Given the description of an element on the screen output the (x, y) to click on. 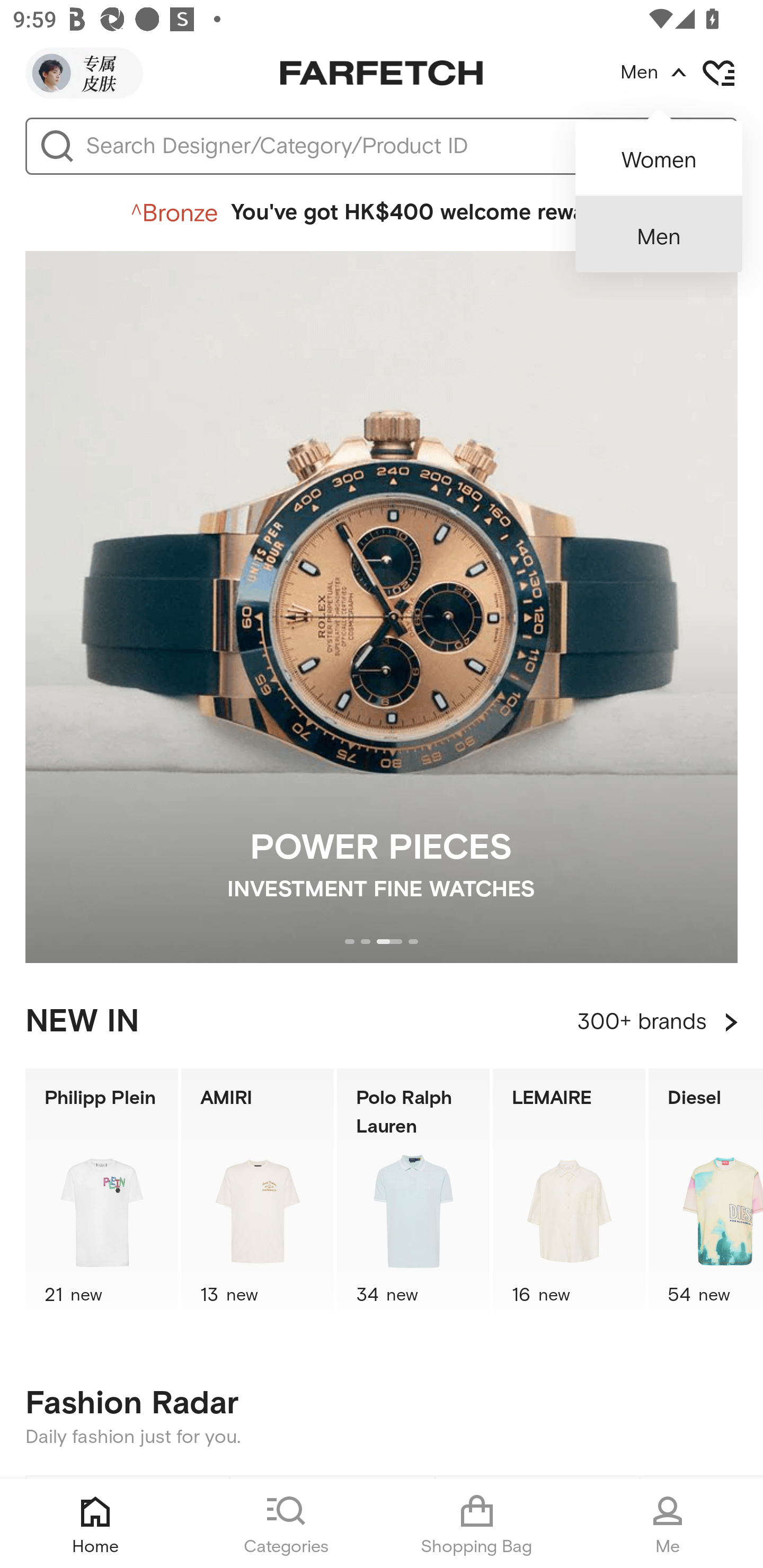
Women (658, 151)
Men (658, 234)
